Given the description of an element on the screen output the (x, y) to click on. 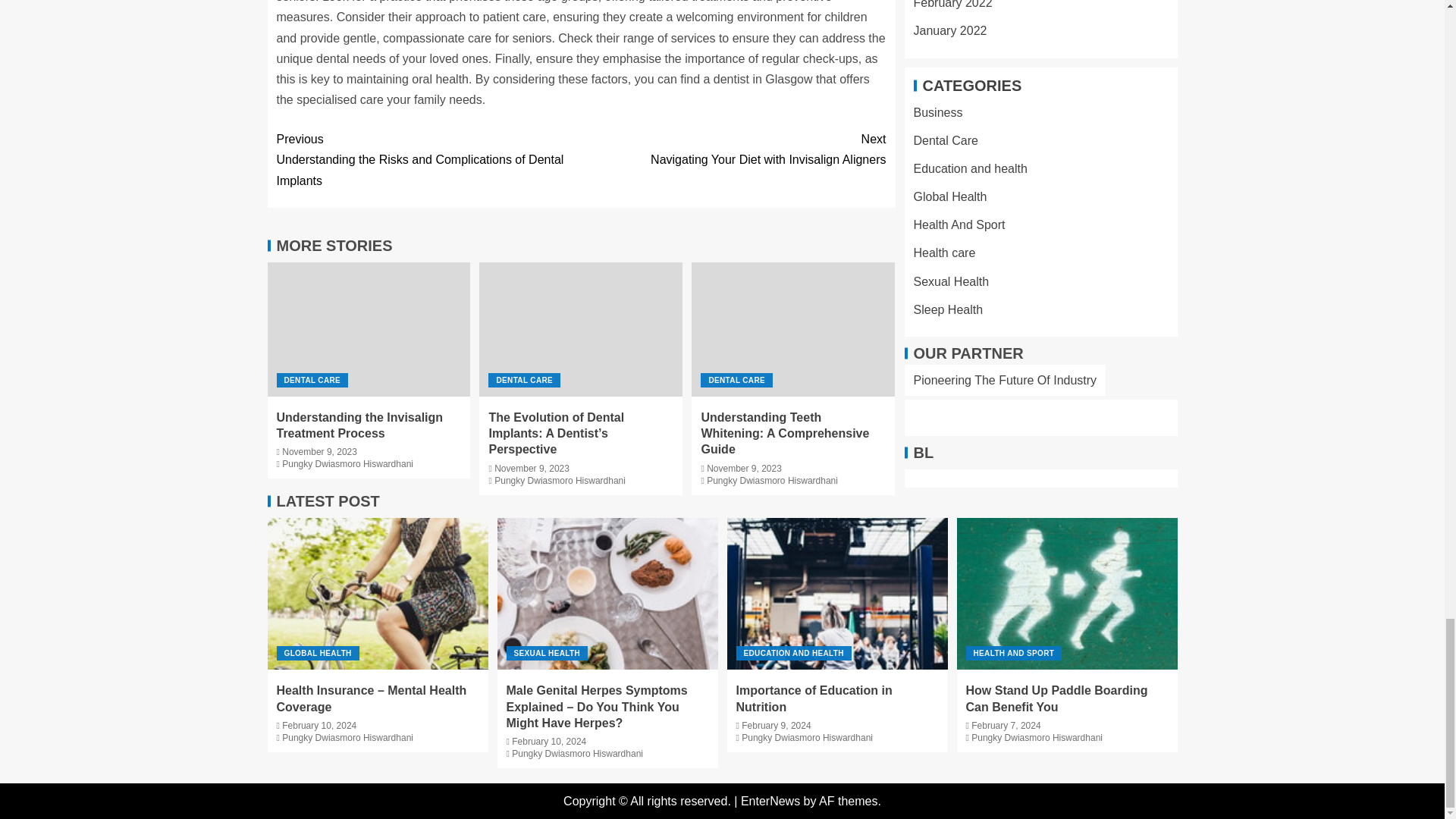
How Stand Up Paddle Boarding Can Benefit You (1066, 593)
DENTAL CARE (523, 380)
DENTAL CARE (311, 380)
Importance of Education in Nutrition (836, 593)
Pungky Dwiasmoro Hiswardhani (347, 463)
Understanding the Invisalign Treatment Process (732, 148)
